Given the description of an element on the screen output the (x, y) to click on. 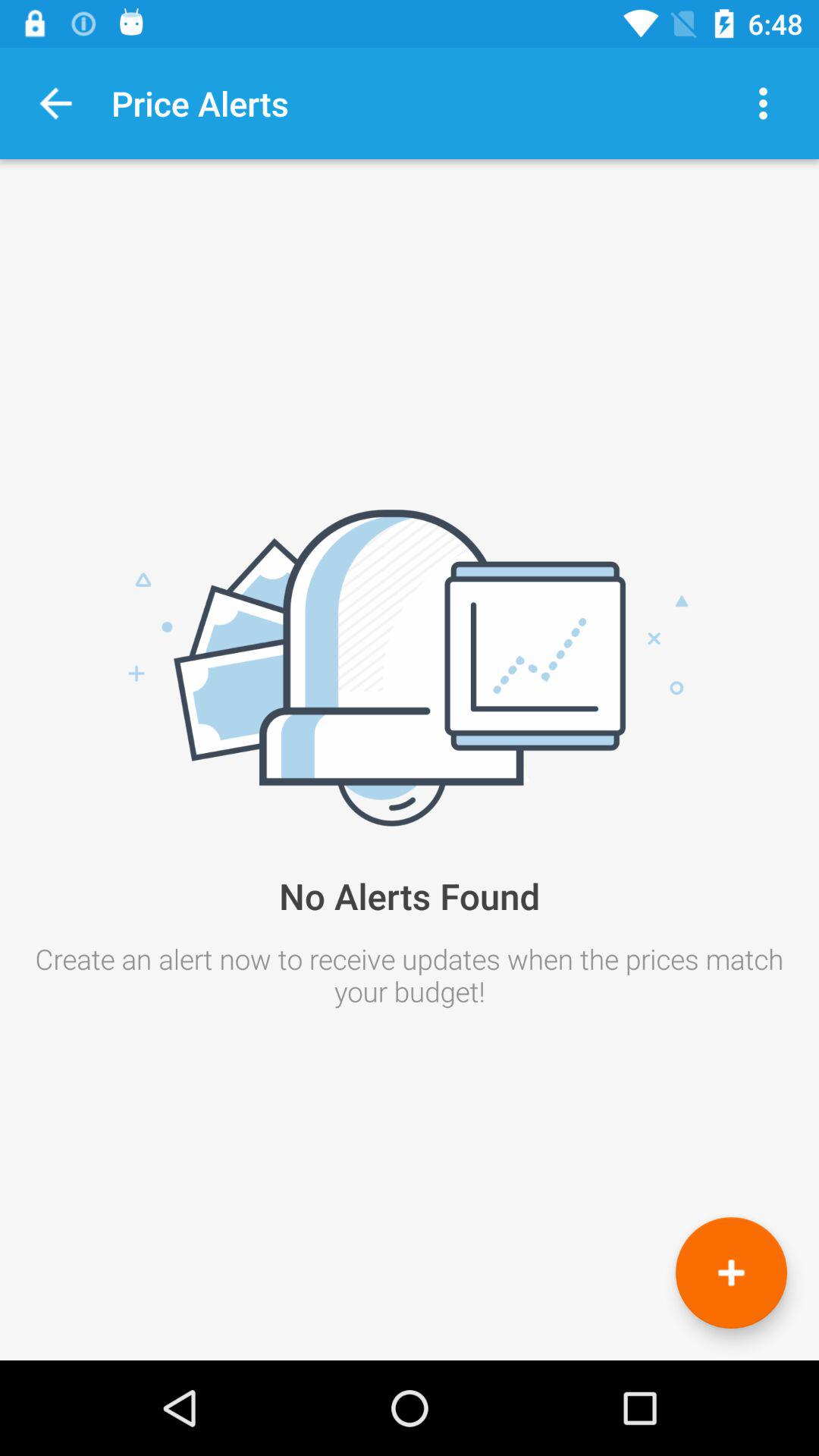
open item next to the price alerts (763, 103)
